Given the description of an element on the screen output the (x, y) to click on. 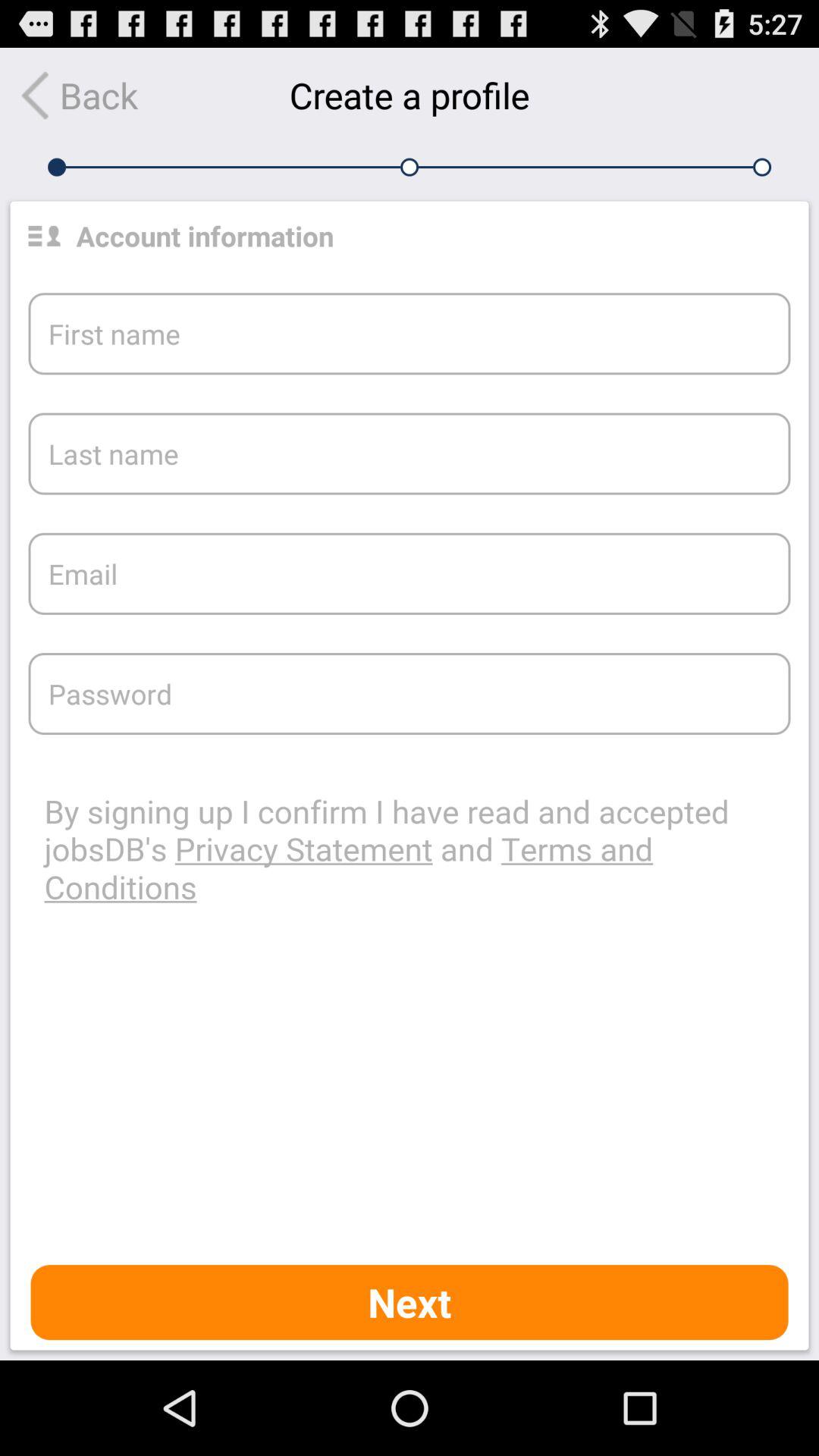
select the text which says first name which is below the account information (409, 333)
select the next button (409, 1302)
click on the box saying last name (409, 454)
go to icon in the first row (44, 235)
select the field which says email (409, 573)
